Given the description of an element on the screen output the (x, y) to click on. 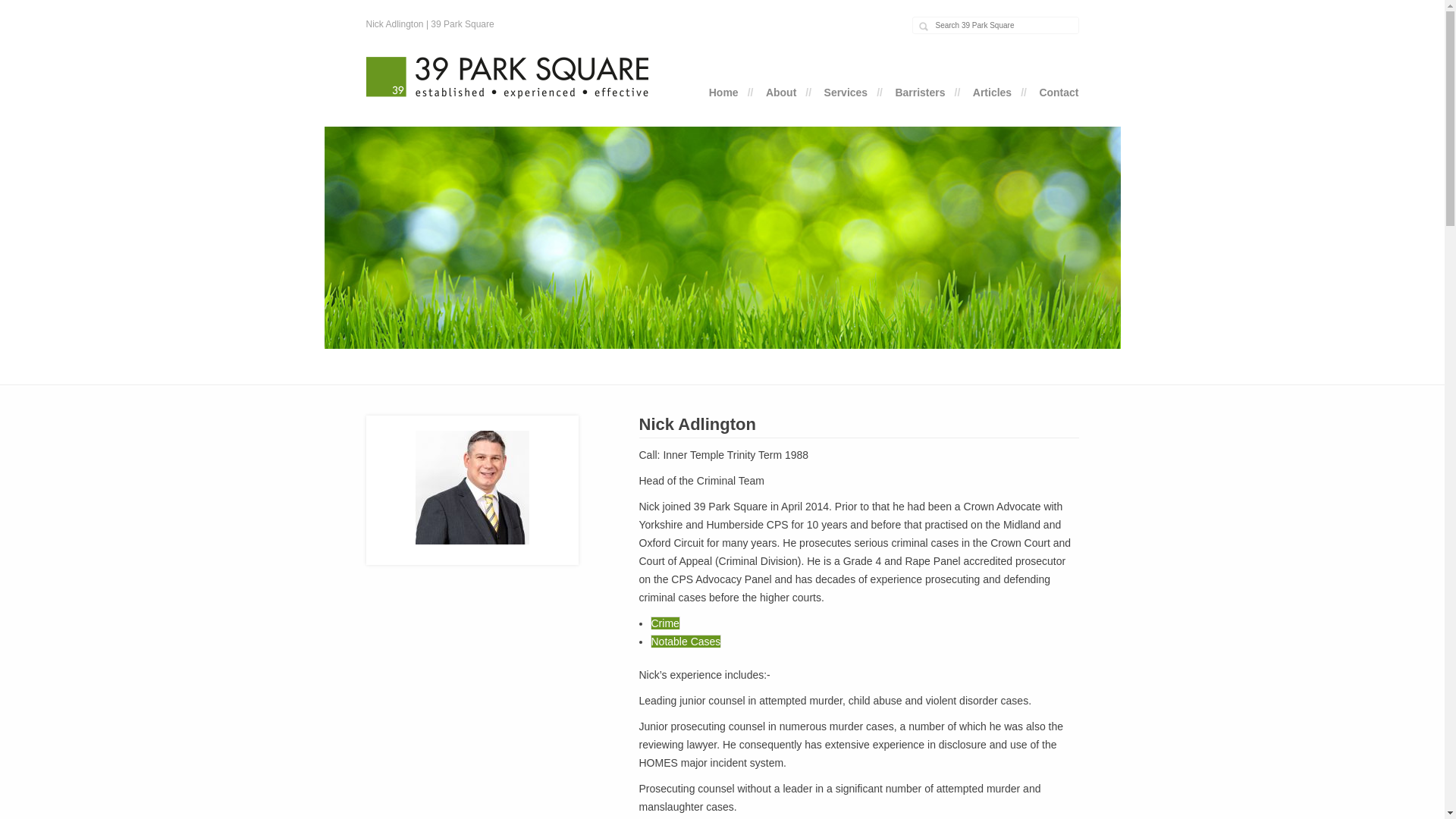
Notable Cases Element type: text (685, 640)
Search Element type: text (21, 7)
Barristers Element type: text (919, 92)
Contact Element type: text (1058, 92)
About Element type: text (780, 92)
Articles Element type: text (991, 92)
Crime Element type: text (665, 622)
Services Element type: text (846, 92)
Home Element type: text (723, 92)
